Given the description of an element on the screen output the (x, y) to click on. 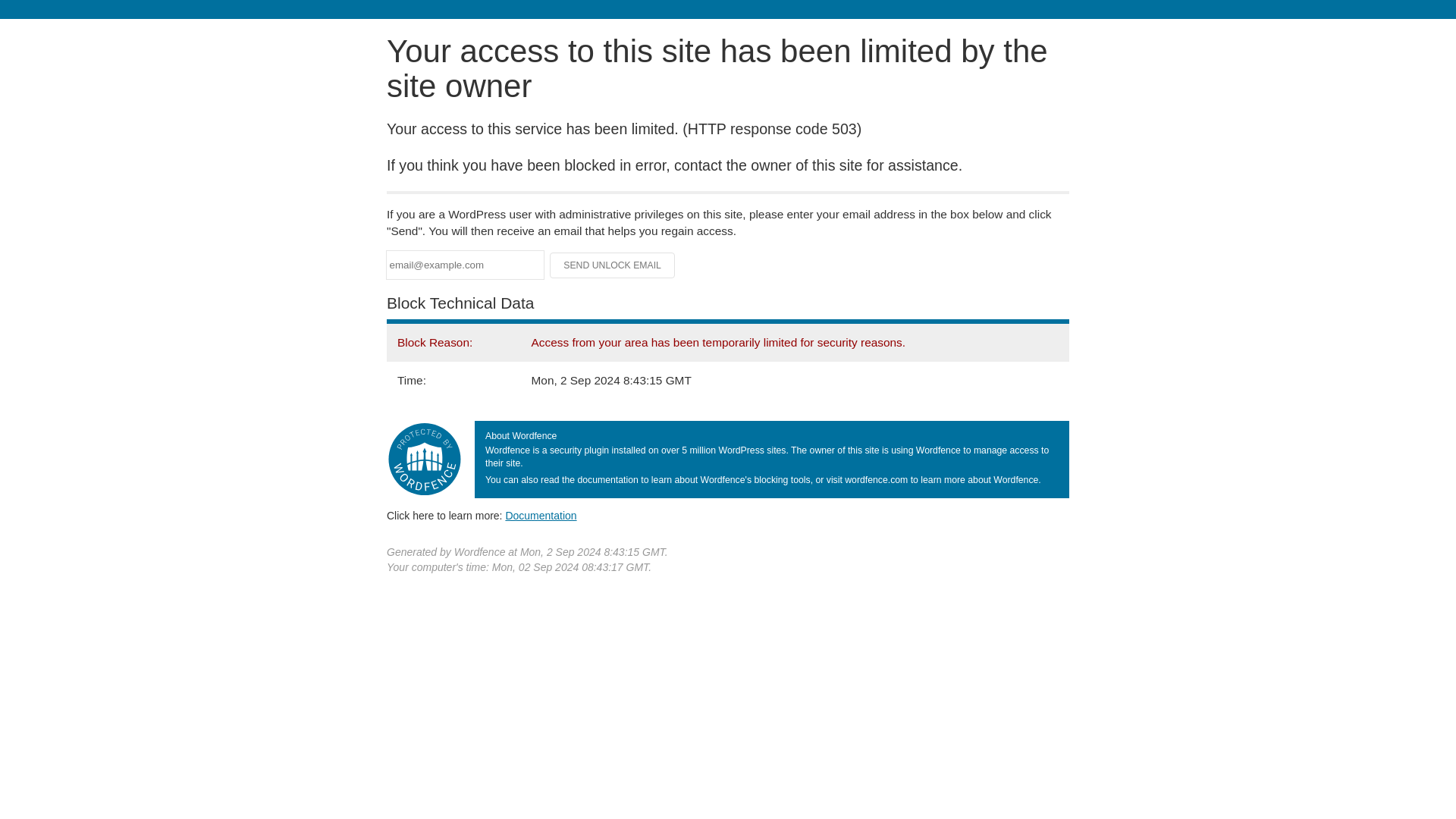
Documentation (540, 515)
Send Unlock Email (612, 265)
Send Unlock Email (612, 265)
